Given the description of an element on the screen output the (x, y) to click on. 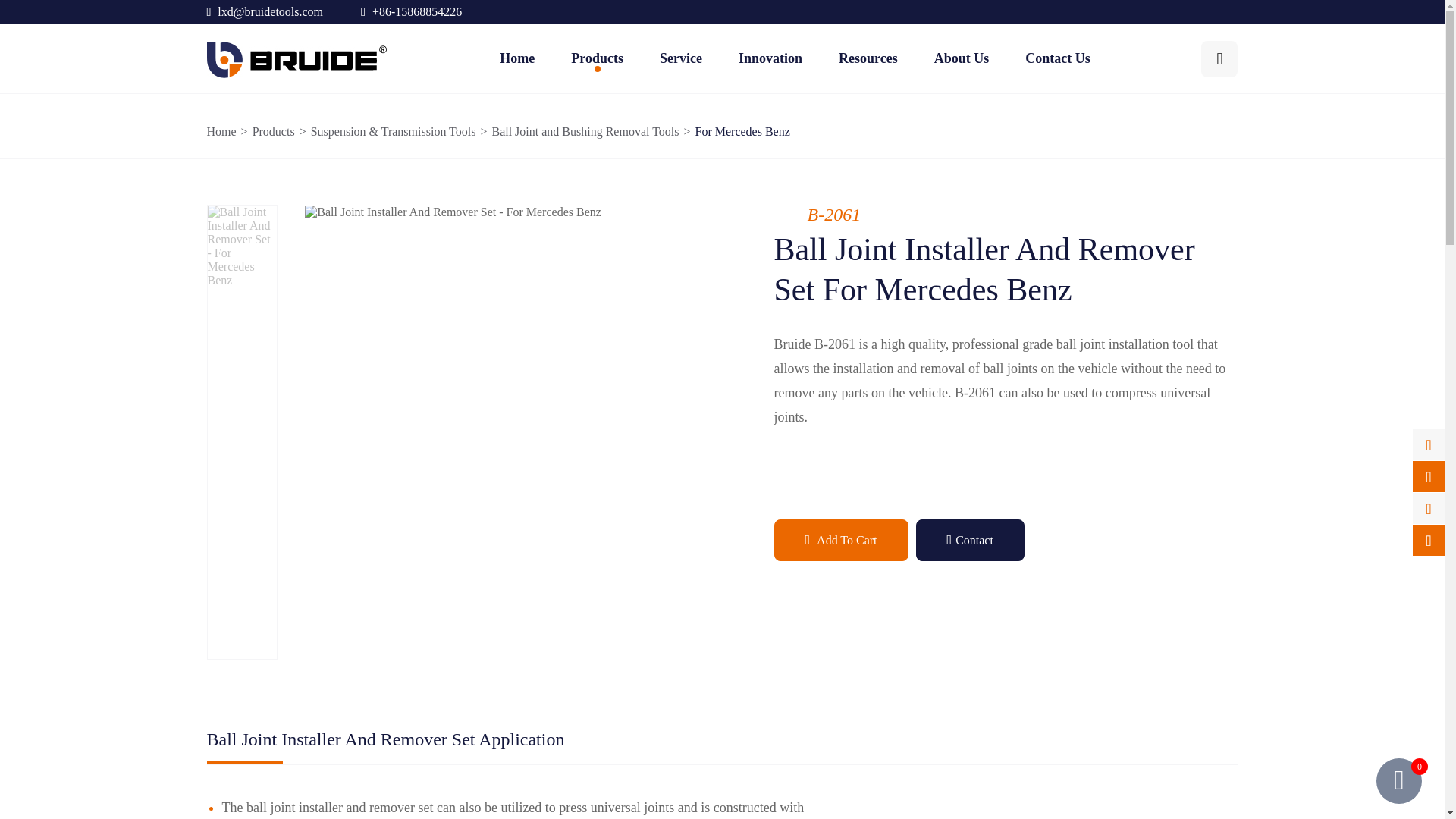
Products (273, 131)
Products (596, 58)
For Mercedes Benz (742, 131)
Home (516, 58)
Ball Joint Installer And Remover Set - For Mercedes Benz (452, 212)
Ball Joint and Bushing Removal Tools (585, 131)
